Given the description of an element on the screen output the (x, y) to click on. 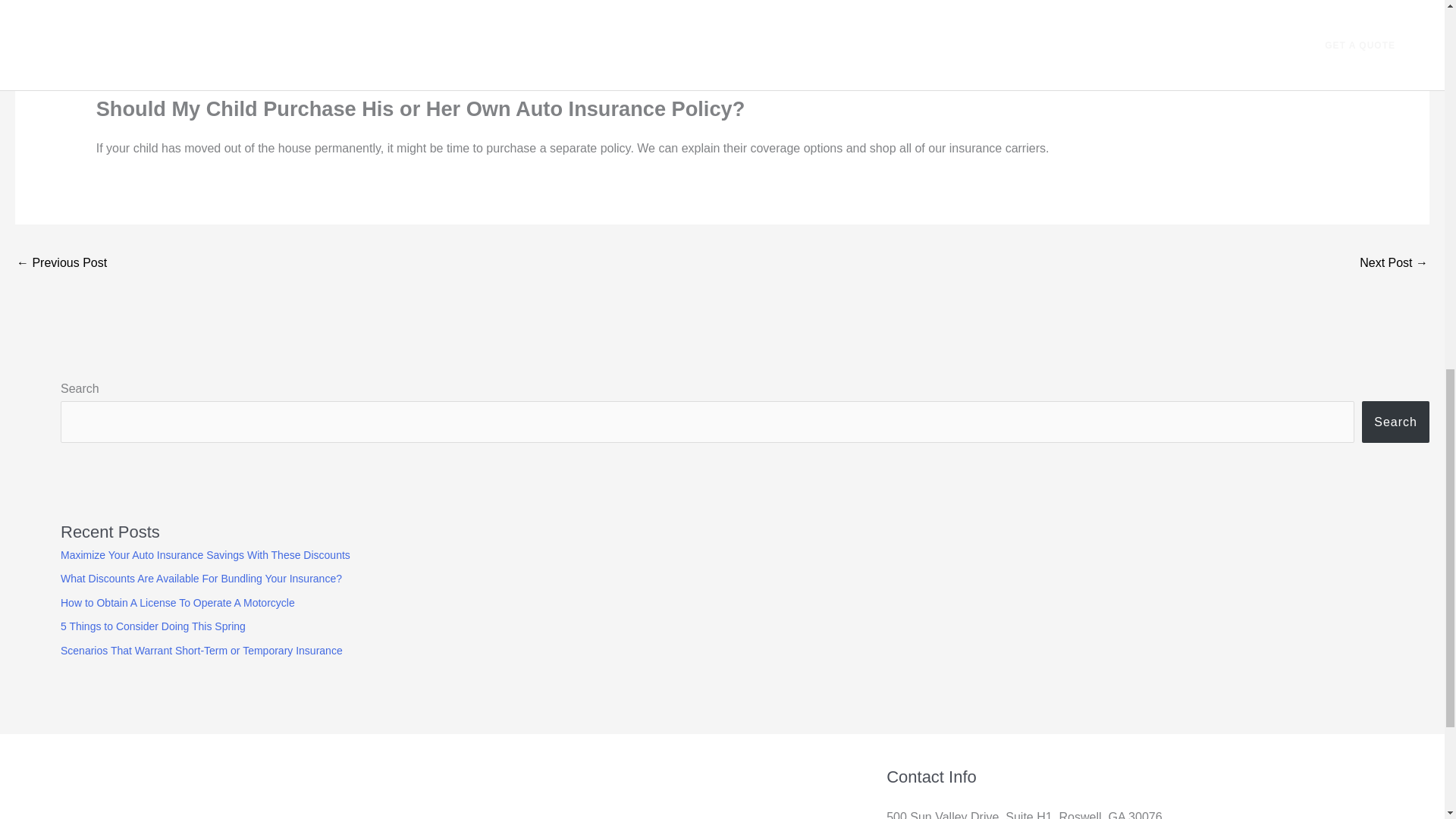
How to Obtain A License To Operate A Motorcycle (178, 603)
What Discounts Are Available For Bundling Your Insurance? (201, 578)
Scenarios That Warrant Short-Term or Temporary Insurance (201, 650)
Search (1395, 421)
Maximize Your Auto Insurance Savings With These Discounts (205, 554)
5 Things to Consider Doing This Spring (153, 625)
